Given the description of an element on the screen output the (x, y) to click on. 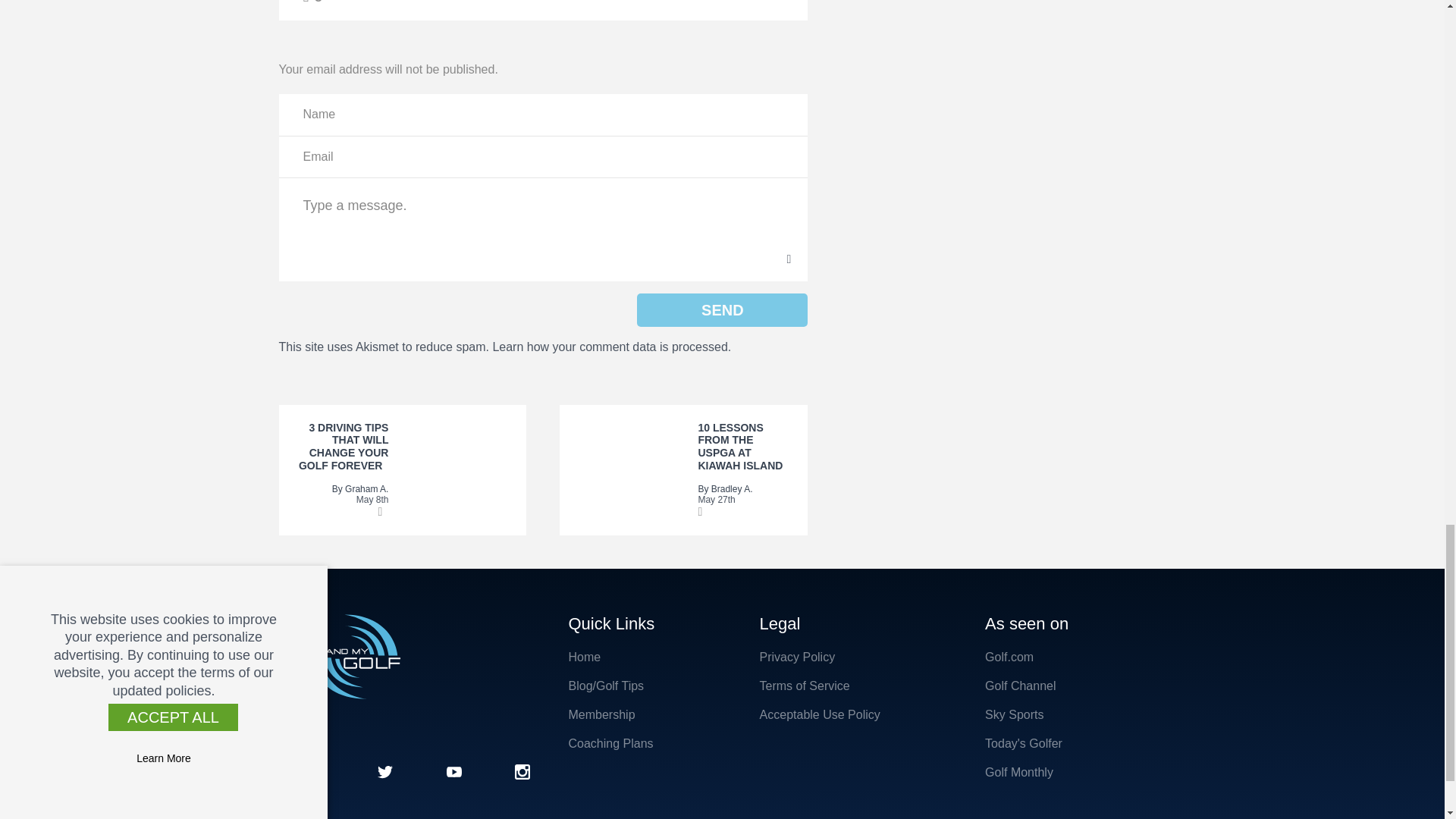
3 DRIVING TIPS THAT WILL CHANGE YOUR GOLF FOREVER (343, 446)
Learn how your comment data is processed (609, 346)
twitter (385, 769)
youtube (453, 769)
facebook (316, 769)
Send (722, 309)
instagram (522, 769)
Send (722, 309)
